Given the description of an element on the screen output the (x, y) to click on. 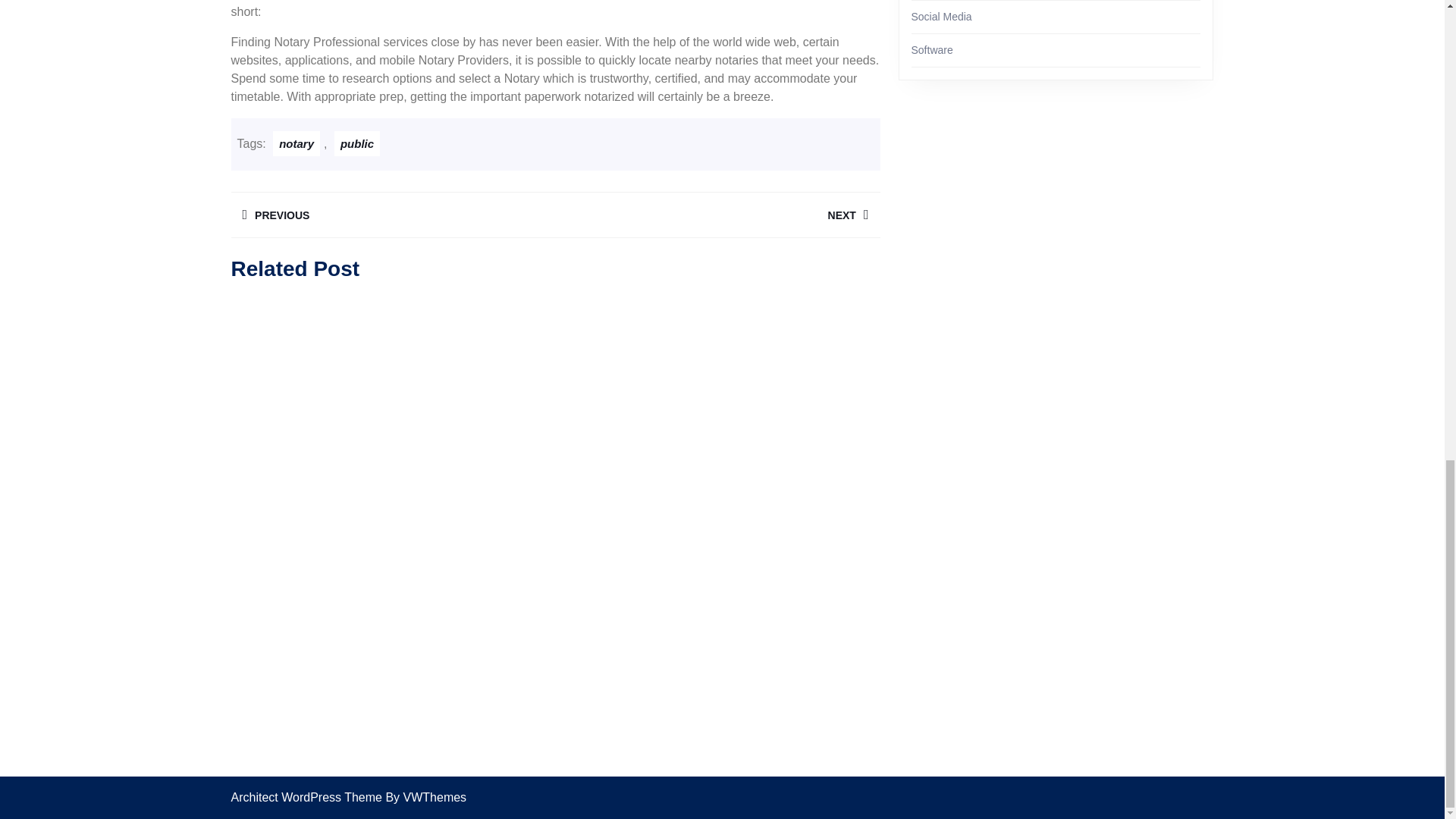
public (357, 143)
notary (716, 214)
